Given the description of an element on the screen output the (x, y) to click on. 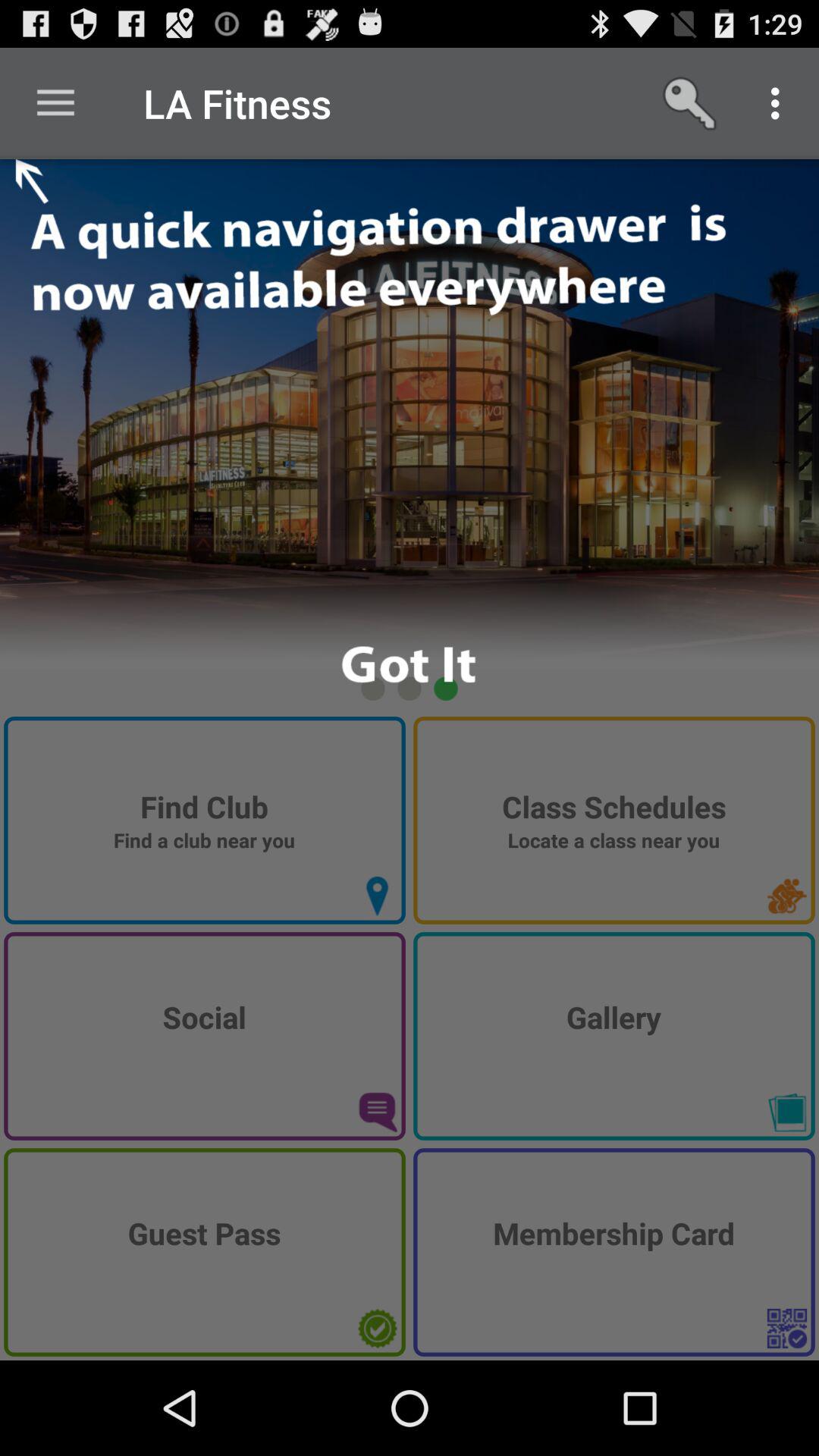
turn off item to the left of la fitness icon (55, 103)
